Given the description of an element on the screen output the (x, y) to click on. 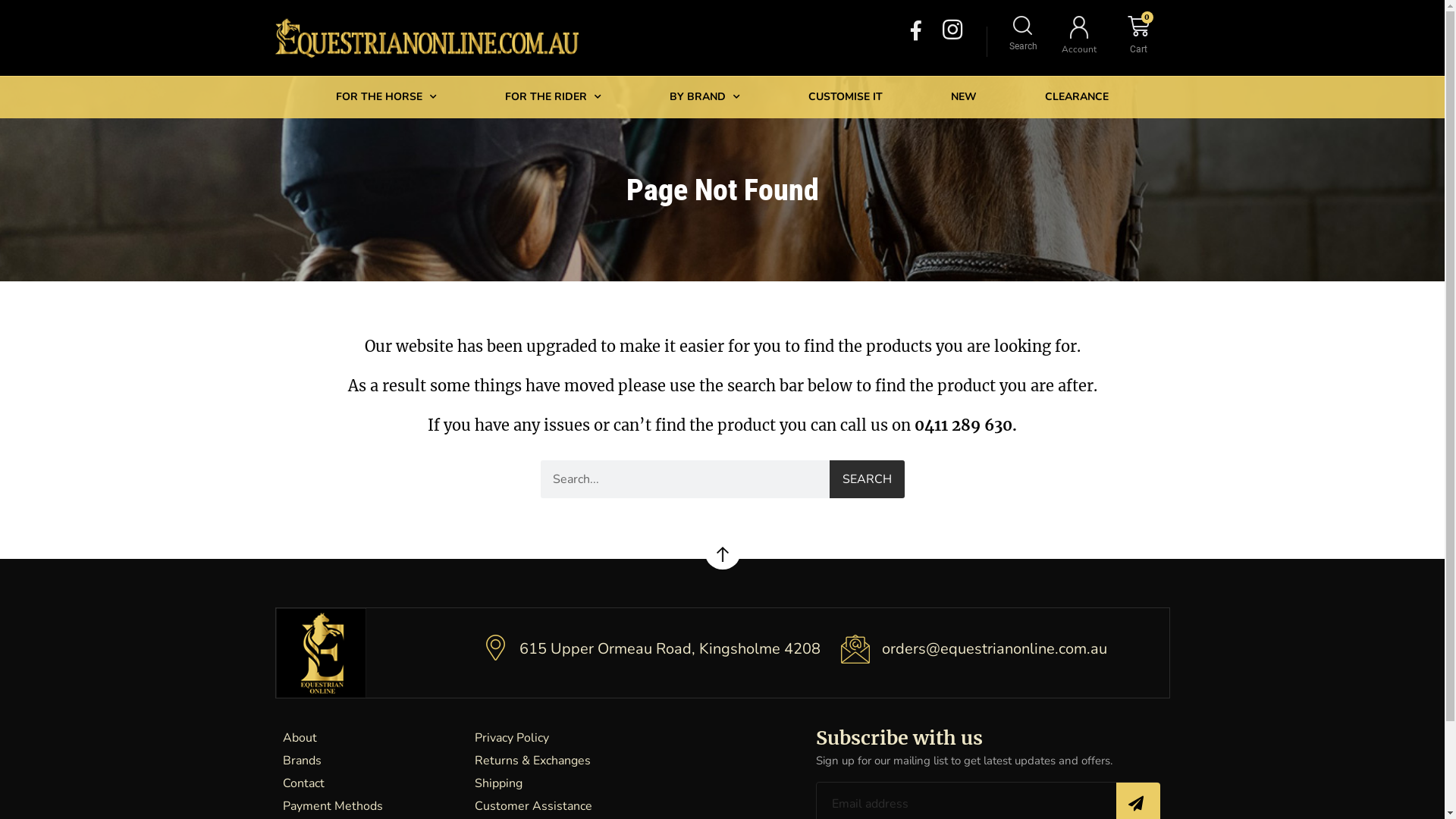
Privacy Policy Element type: text (637, 737)
FOR THE RIDER Element type: text (552, 96)
orders@equestrianonline.com.au Element type: text (994, 648)
NEW Element type: text (963, 96)
Brands Element type: text (370, 760)
BY BRAND Element type: text (704, 96)
Payment Methods Element type: text (370, 806)
CUSTOMISE IT Element type: text (845, 96)
FOR THE HORSE Element type: text (385, 96)
Returns & Exchanges Element type: text (637, 760)
Account Element type: text (1078, 49)
0 Element type: text (1138, 26)
About Element type: text (370, 737)
CLEARANCE Element type: text (1076, 96)
Customer Assistance Element type: text (637, 806)
Contact Element type: text (370, 783)
Shipping Element type: text (637, 783)
SEARCH Element type: text (866, 479)
